Given the description of an element on the screen output the (x, y) to click on. 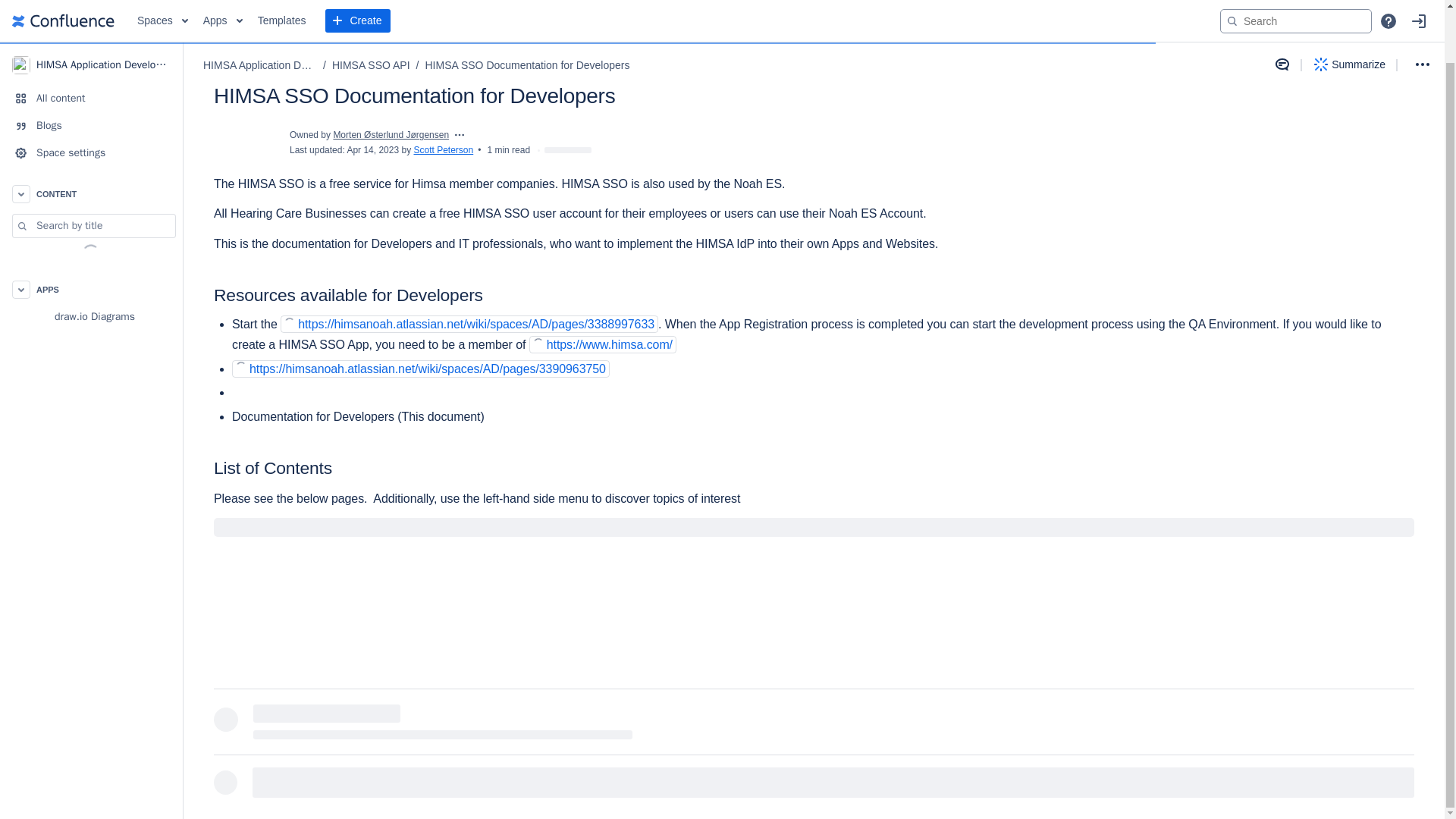
Blogs (90, 68)
APPS (90, 232)
Summarize (1349, 9)
CONTENT (90, 136)
HIMSA Application Development (260, 7)
draw.io Diagrams (90, 259)
HIMSA SSO API (370, 7)
Scott Peterson (443, 149)
All content (90, 41)
HIMSA SSO Documentation for Developers (526, 7)
Apr 14, 2023 (372, 149)
Space settings (90, 95)
HIMSA Application Development (90, 11)
